Given the description of an element on the screen output the (x, y) to click on. 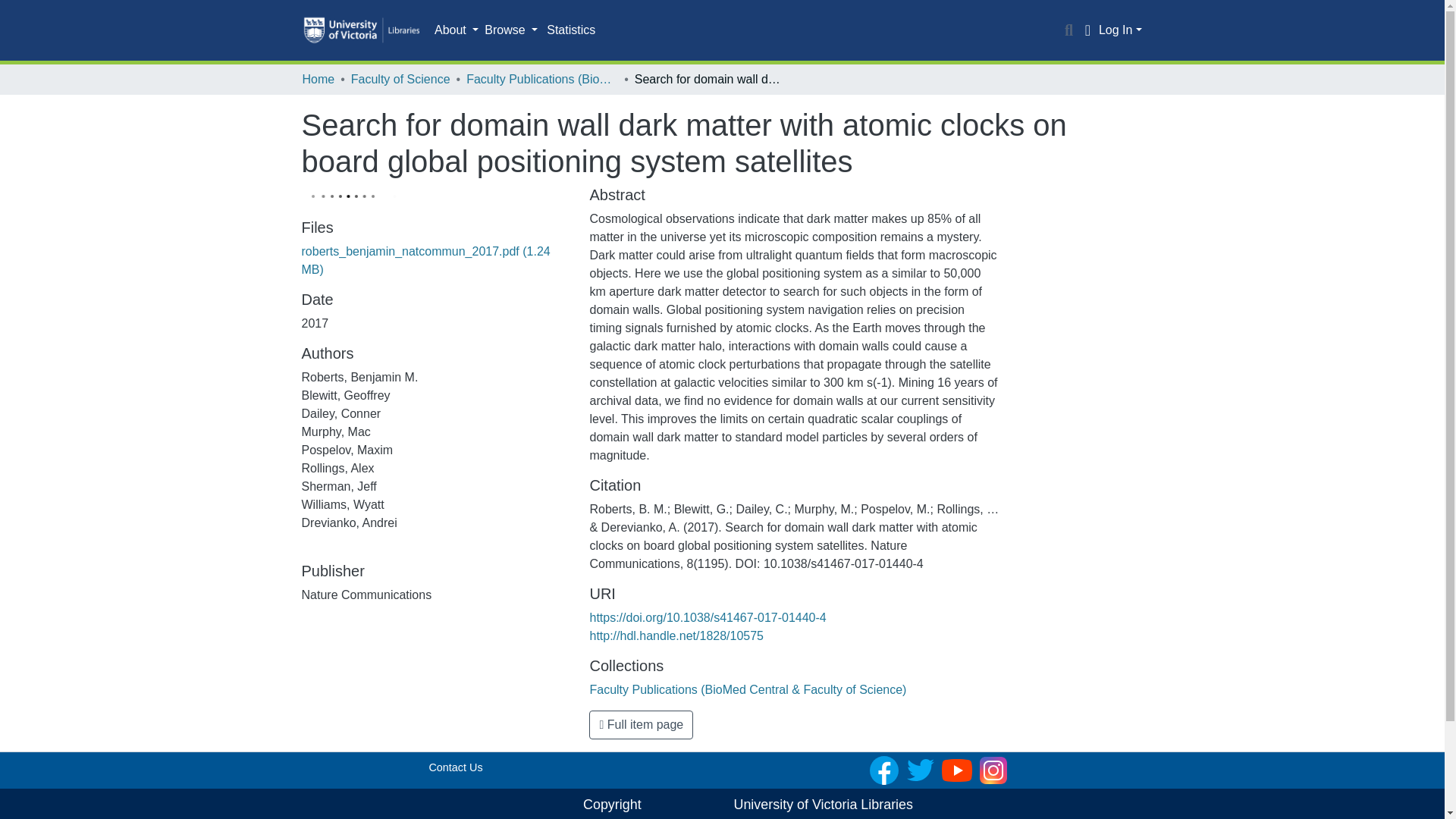
Statistics (570, 30)
Home (317, 79)
Browse (510, 30)
Language switch (1087, 30)
Search (1068, 30)
Statistics (570, 30)
Faculty of Science (399, 79)
About (455, 30)
Full item page (641, 724)
Log In (1119, 29)
Contact Us (454, 767)
